Given the description of an element on the screen output the (x, y) to click on. 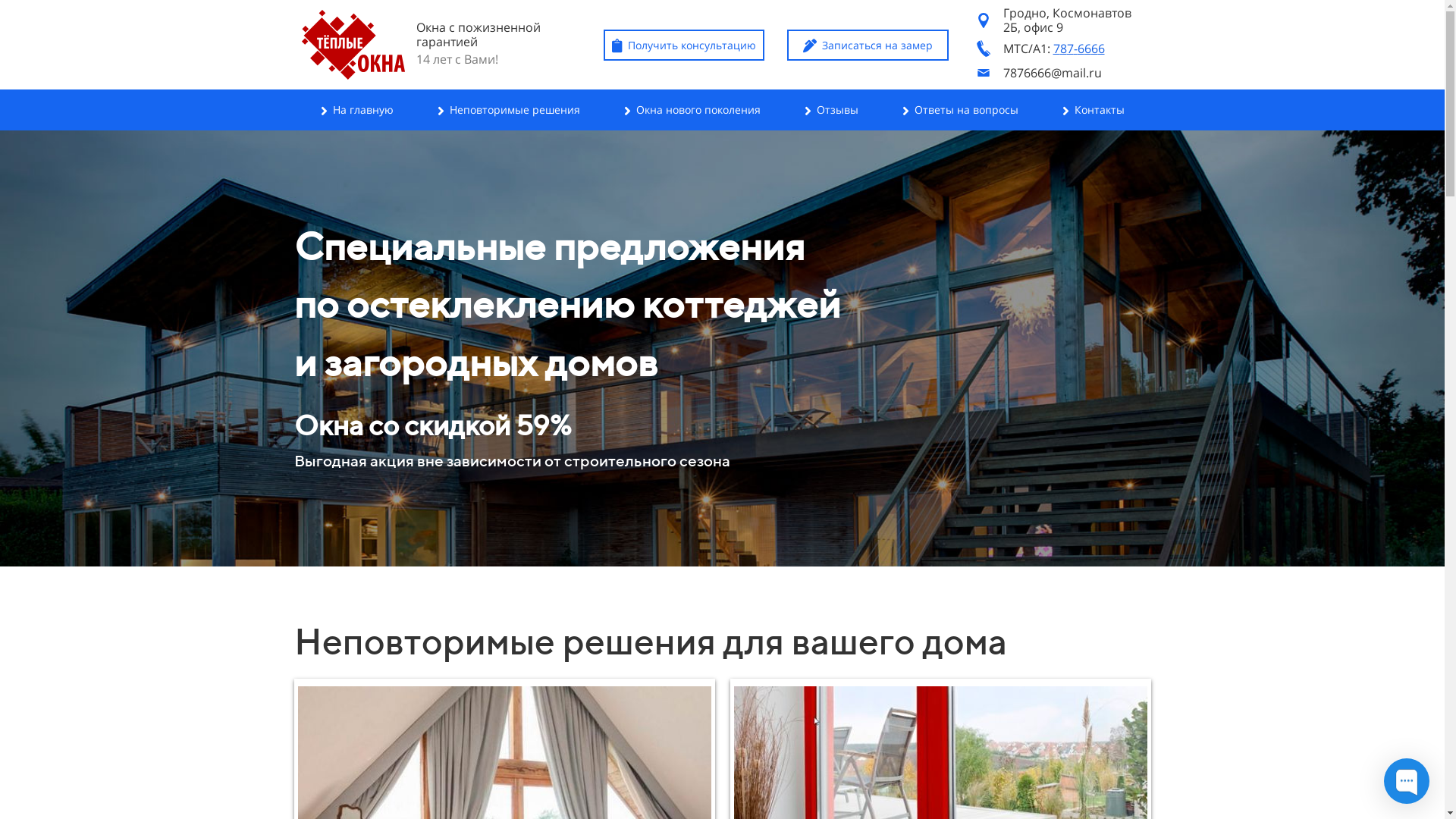
787-6666 Element type: text (1078, 48)
